Given the description of an element on the screen output the (x, y) to click on. 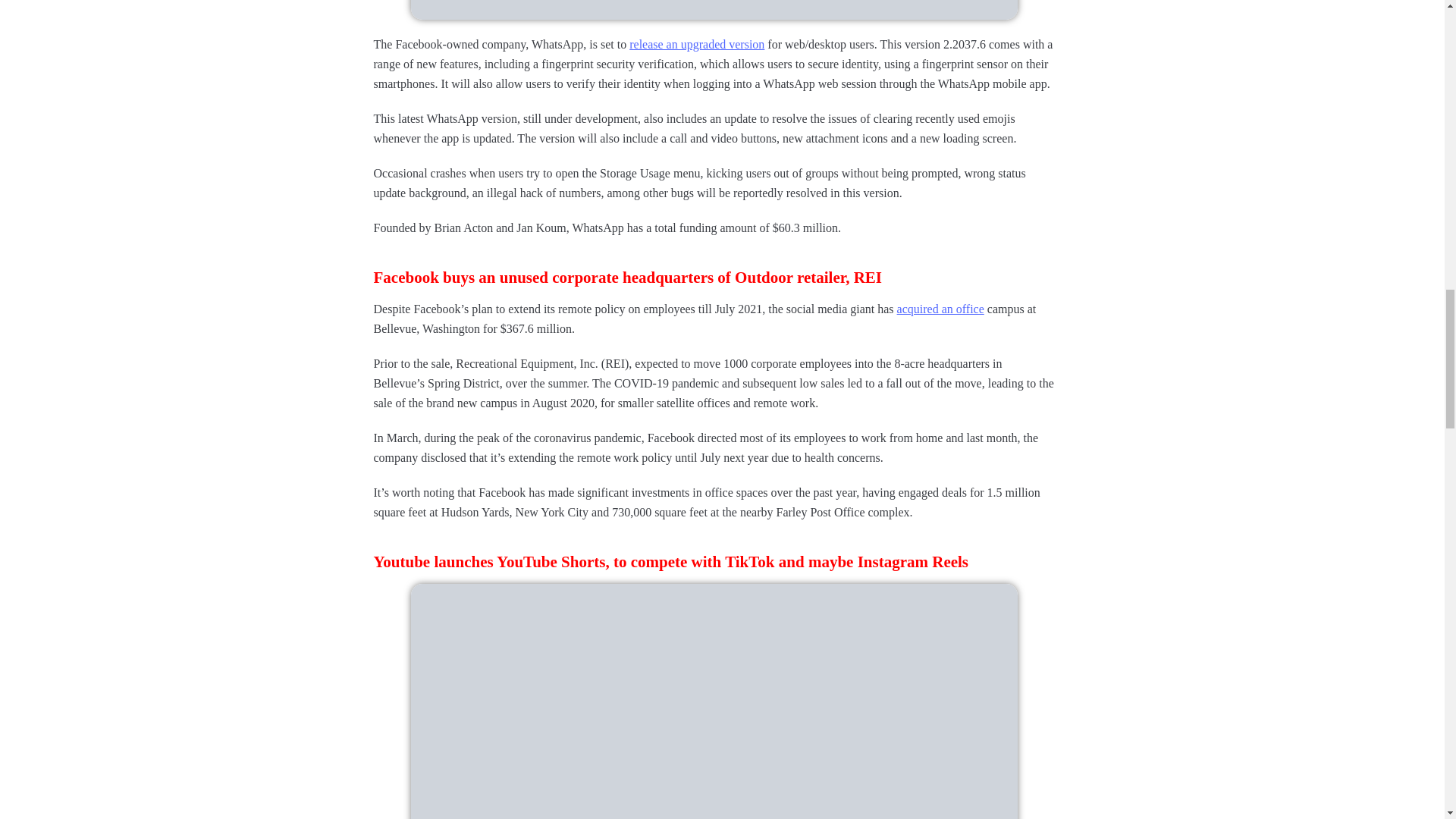
acquired an office (940, 309)
release an upgraded version (696, 44)
